Given the description of an element on the screen output the (x, y) to click on. 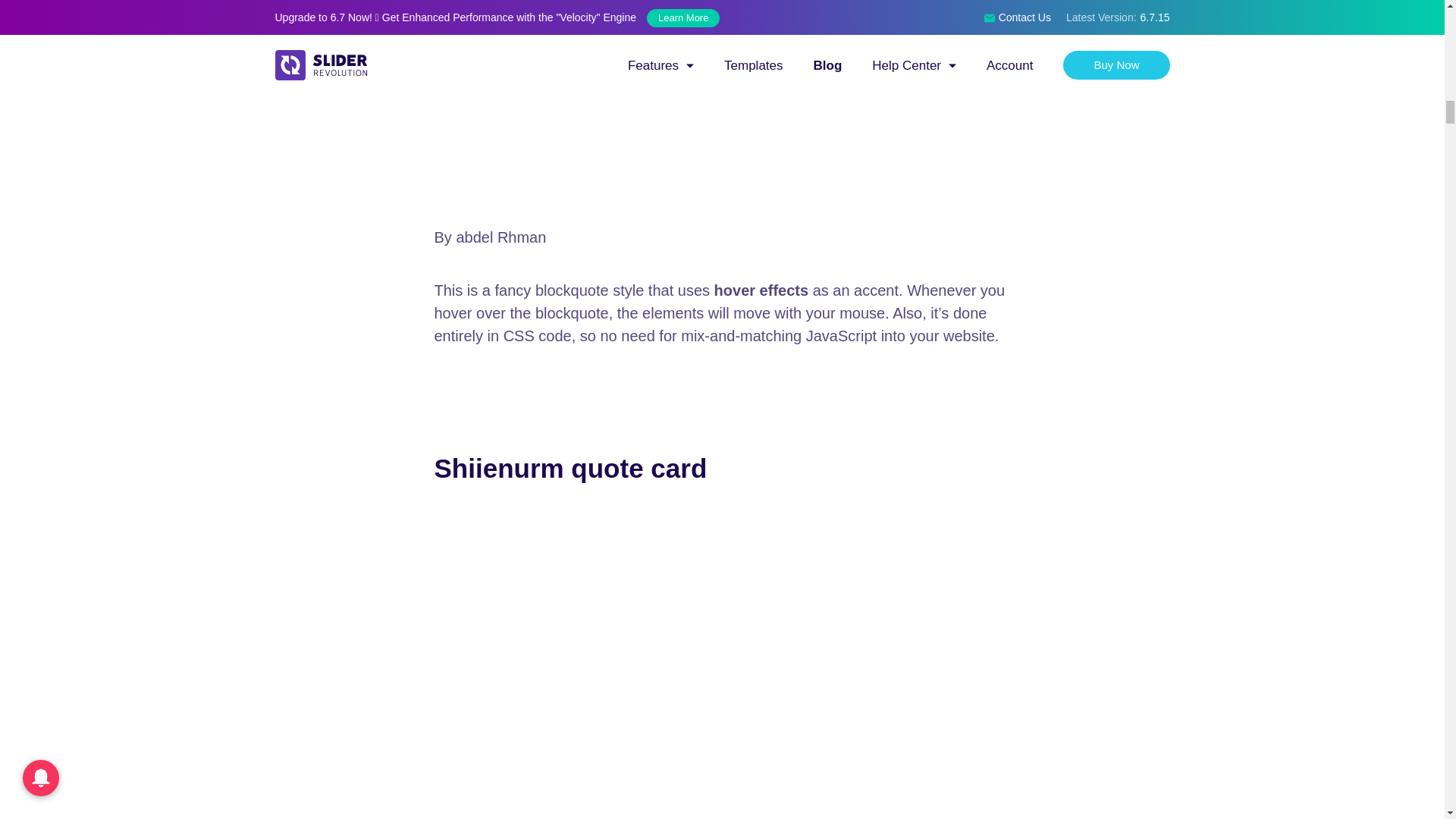
CodePen Embed oJOPdq (721, 102)
